Given the description of an element on the screen output the (x, y) to click on. 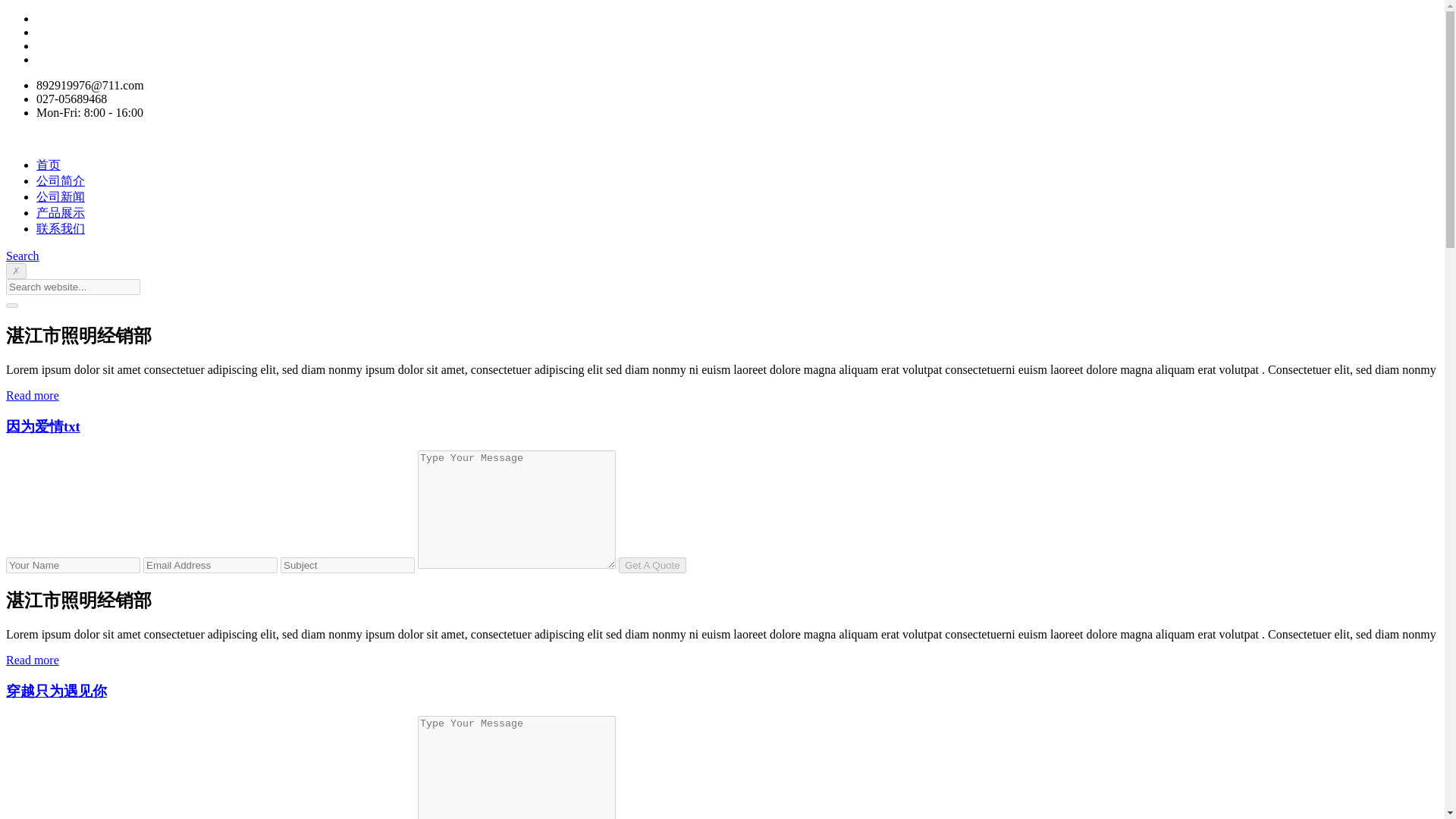
Get A Quote (651, 565)
Get A Quote (651, 565)
Read more (32, 659)
Read more (32, 395)
Search (22, 255)
